Given the description of an element on the screen output the (x, y) to click on. 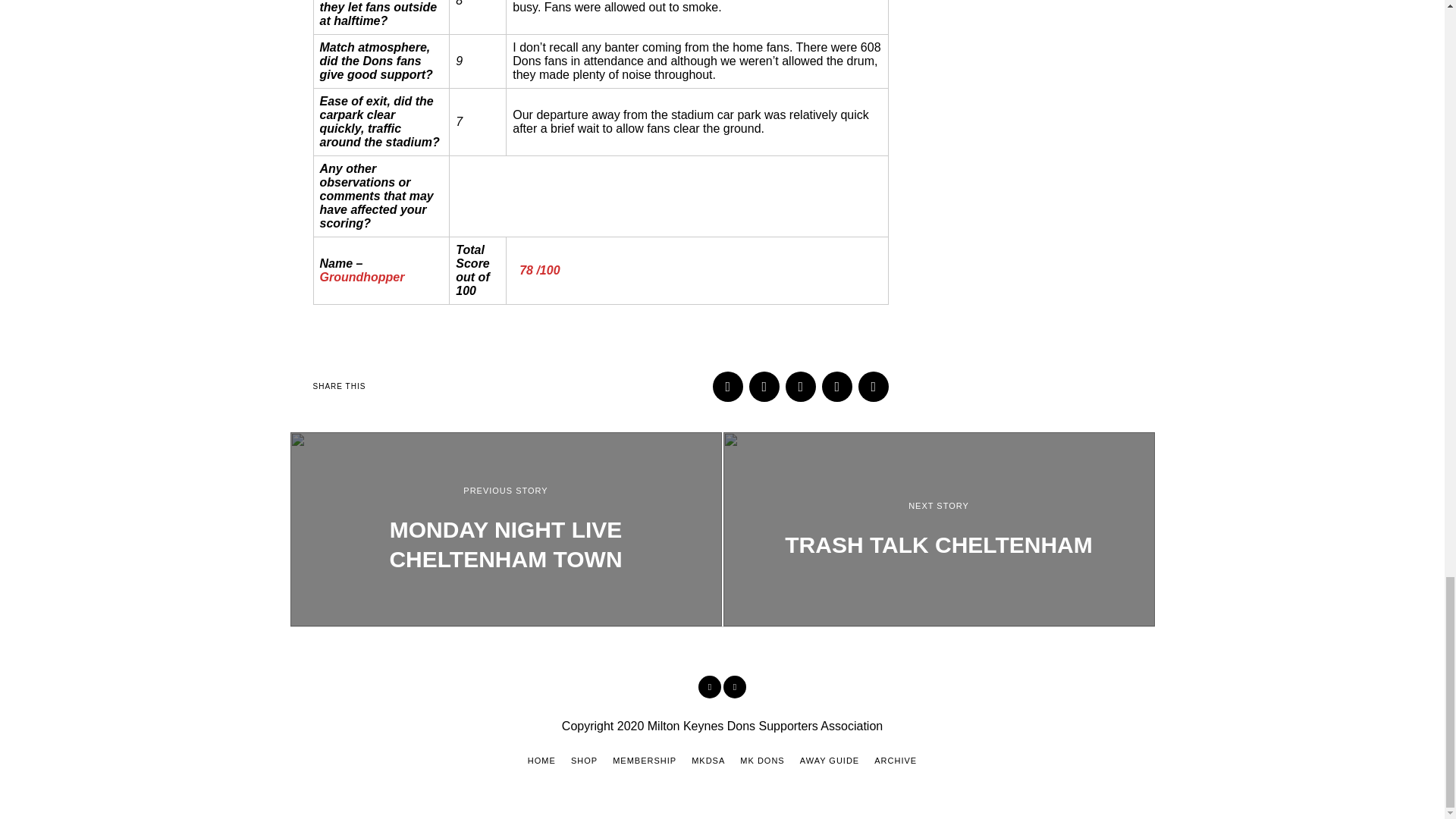
Twitter (800, 386)
Whatsapp (836, 386)
Email (873, 386)
Facebook (709, 686)
Facebook (727, 386)
Messenger (763, 386)
Twitter (734, 686)
